Given the description of an element on the screen output the (x, y) to click on. 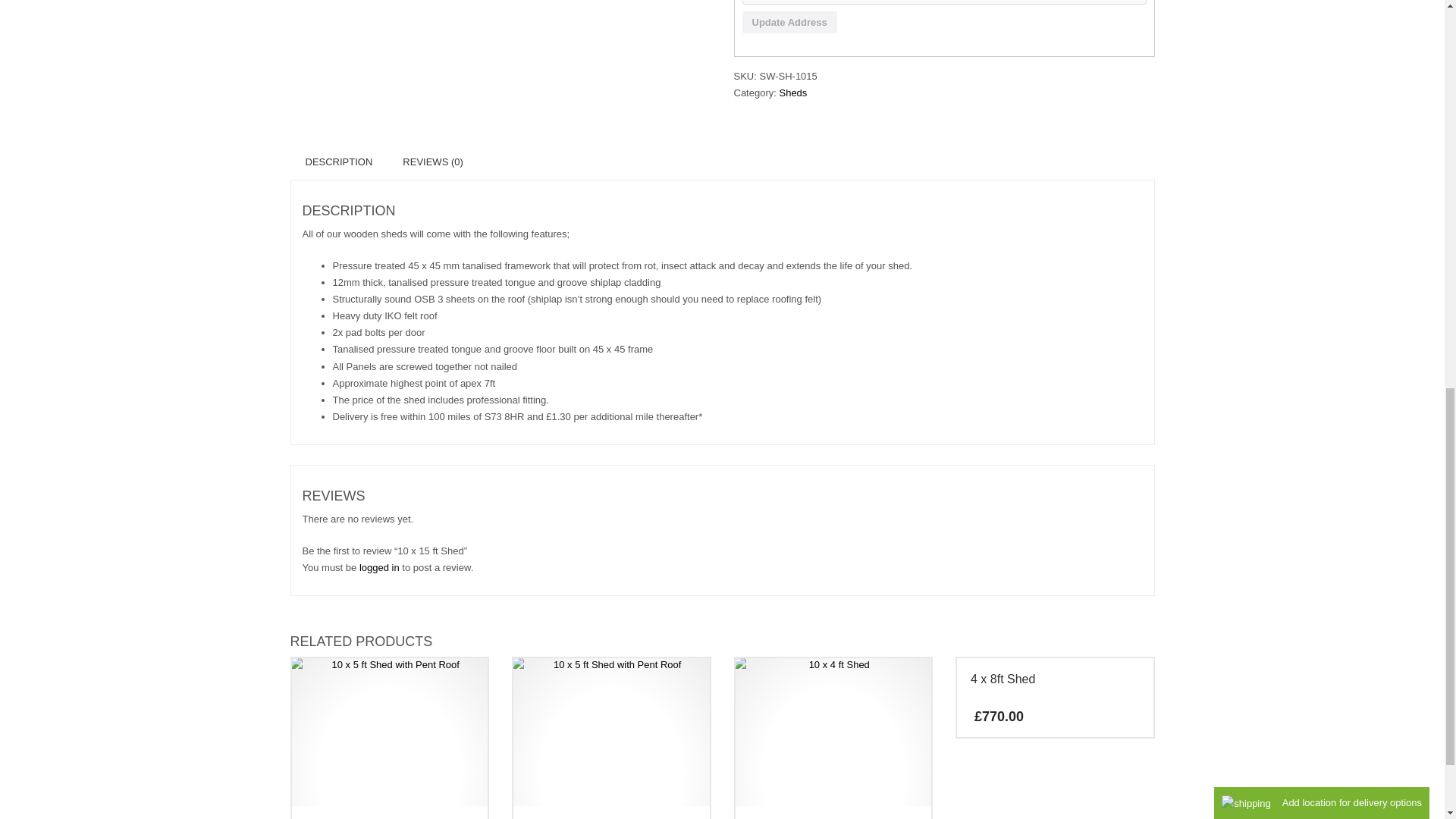
IMG-20221006-WA0011 (389, 730)
